Given the description of an element on the screen output the (x, y) to click on. 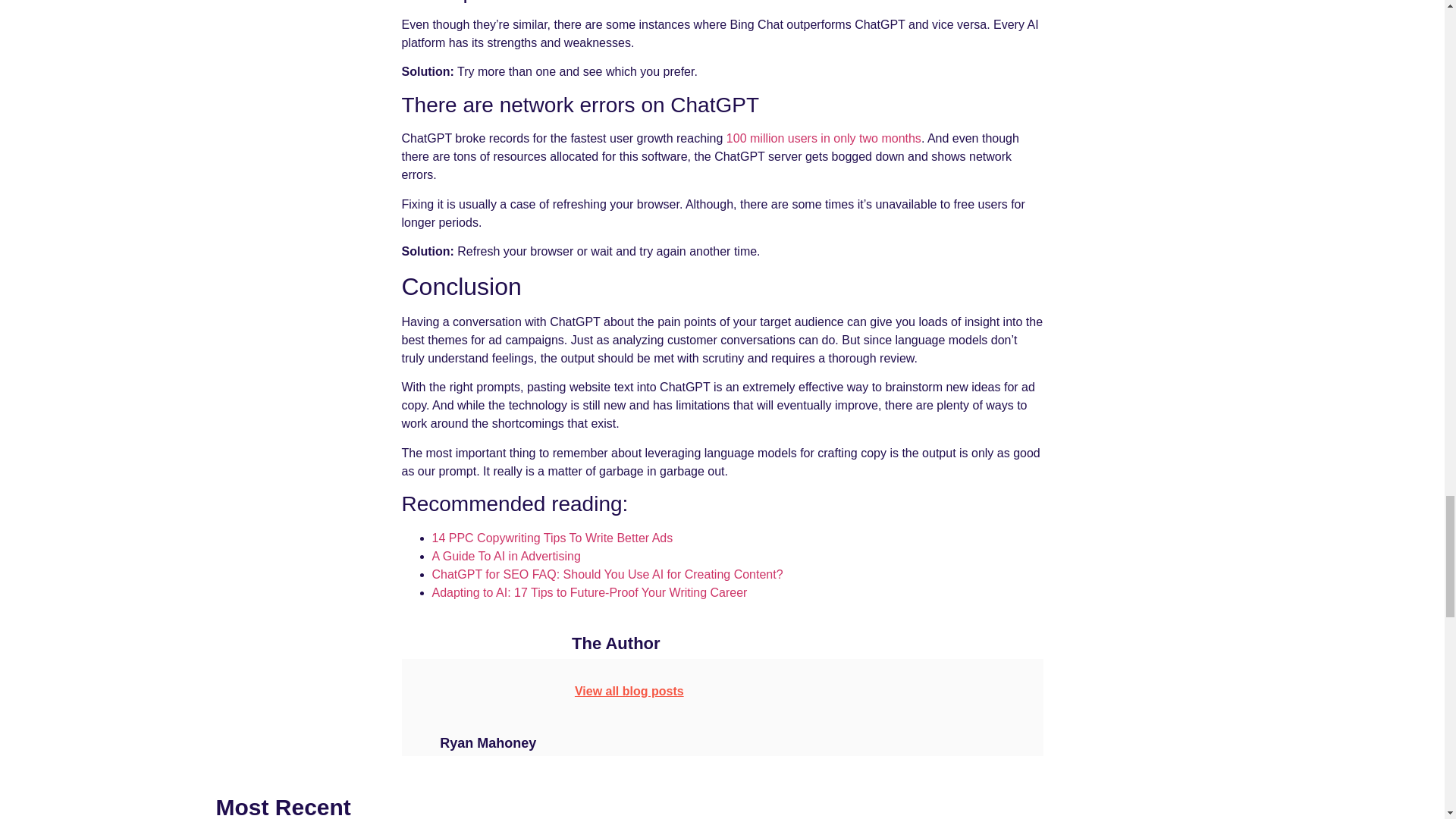
14 PPC Copywriting Tips To Write Better Ads (552, 537)
100 million users in only two months (823, 137)
A Guide To AI in Advertising (506, 555)
View all blog posts (629, 690)
Adapting to AI: 17 Tips to Future-Proof Your Writing Career (590, 592)
ChatGPT for SEO FAQ: Should You Use AI for Creating Content? (607, 574)
